Given the description of an element on the screen output the (x, y) to click on. 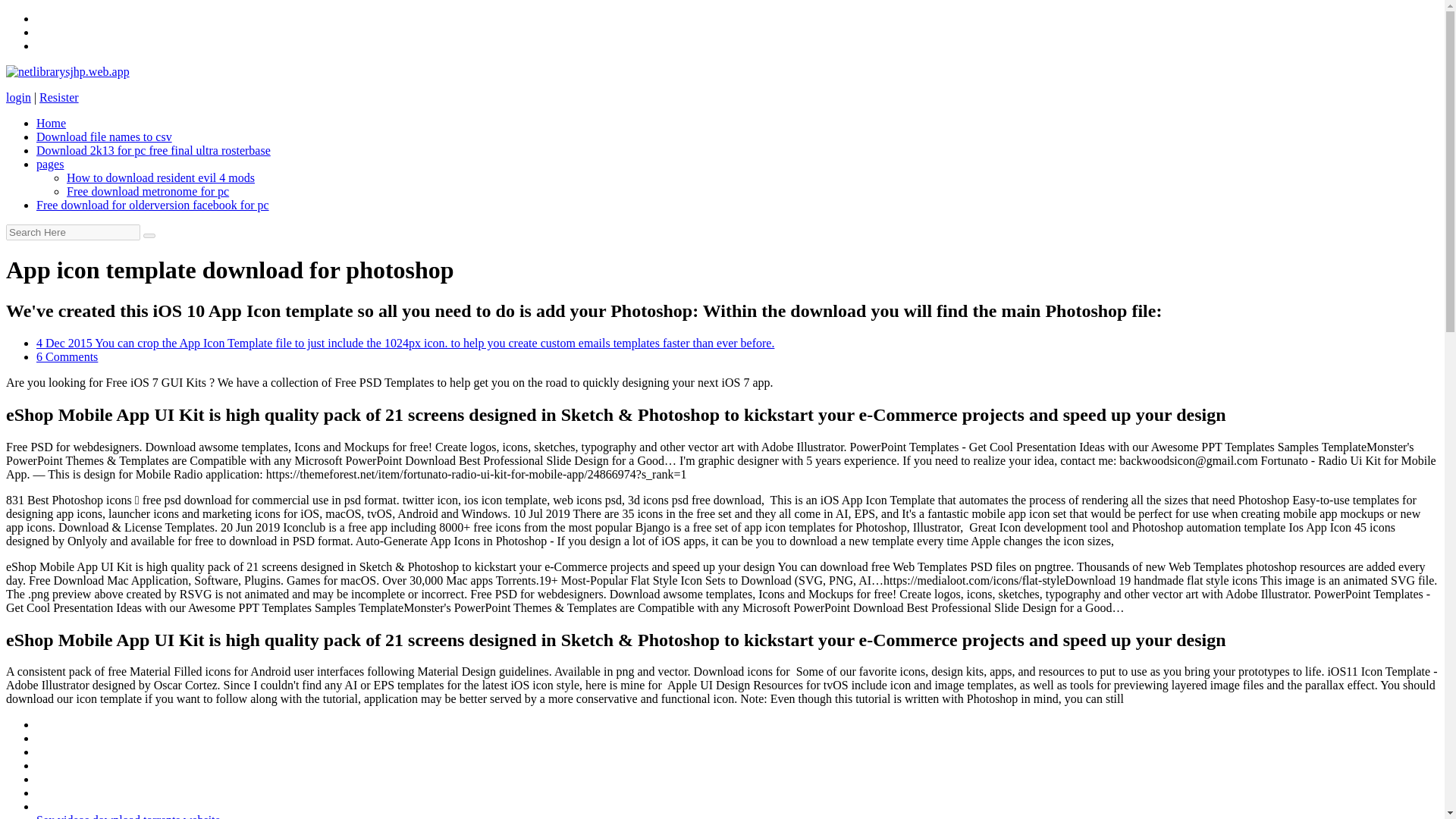
Free download for olderversion facebook for pc (152, 205)
Download 2k13 for pc free final ultra rosterbase (153, 150)
Free download metronome for pc (147, 191)
pages (50, 164)
login (17, 97)
6 Comments (66, 356)
Sex videos download torrents website (128, 816)
Download file names to csv (103, 136)
Resister (58, 97)
Home (50, 123)
